Given the description of an element on the screen output the (x, y) to click on. 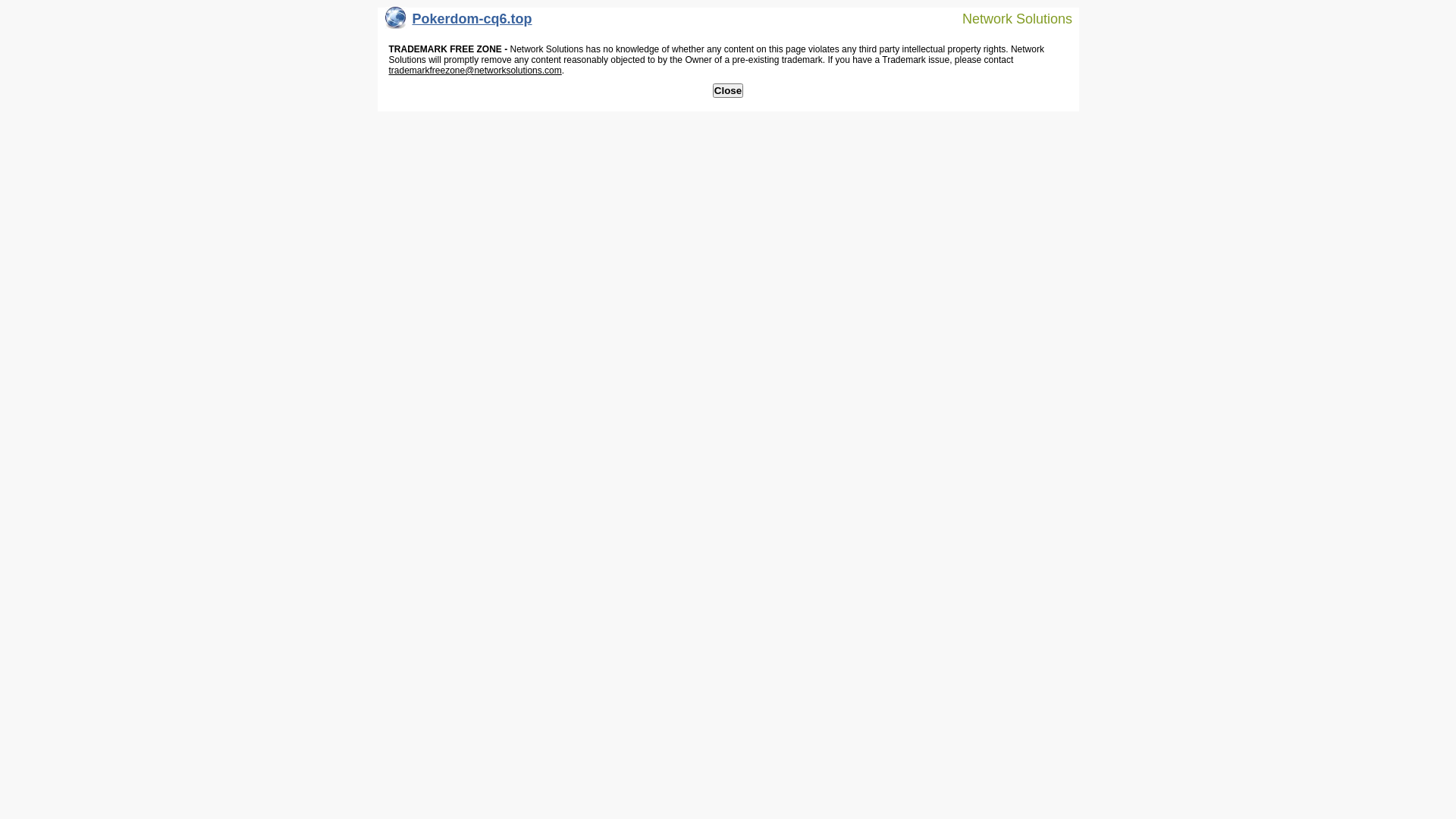
Network Solutions Element type: text (1007, 17)
Close Element type: text (727, 90)
trademarkfreezone@networksolutions.com Element type: text (474, 70)
Pokerdom-cq6.top Element type: text (458, 21)
